Given the description of an element on the screen output the (x, y) to click on. 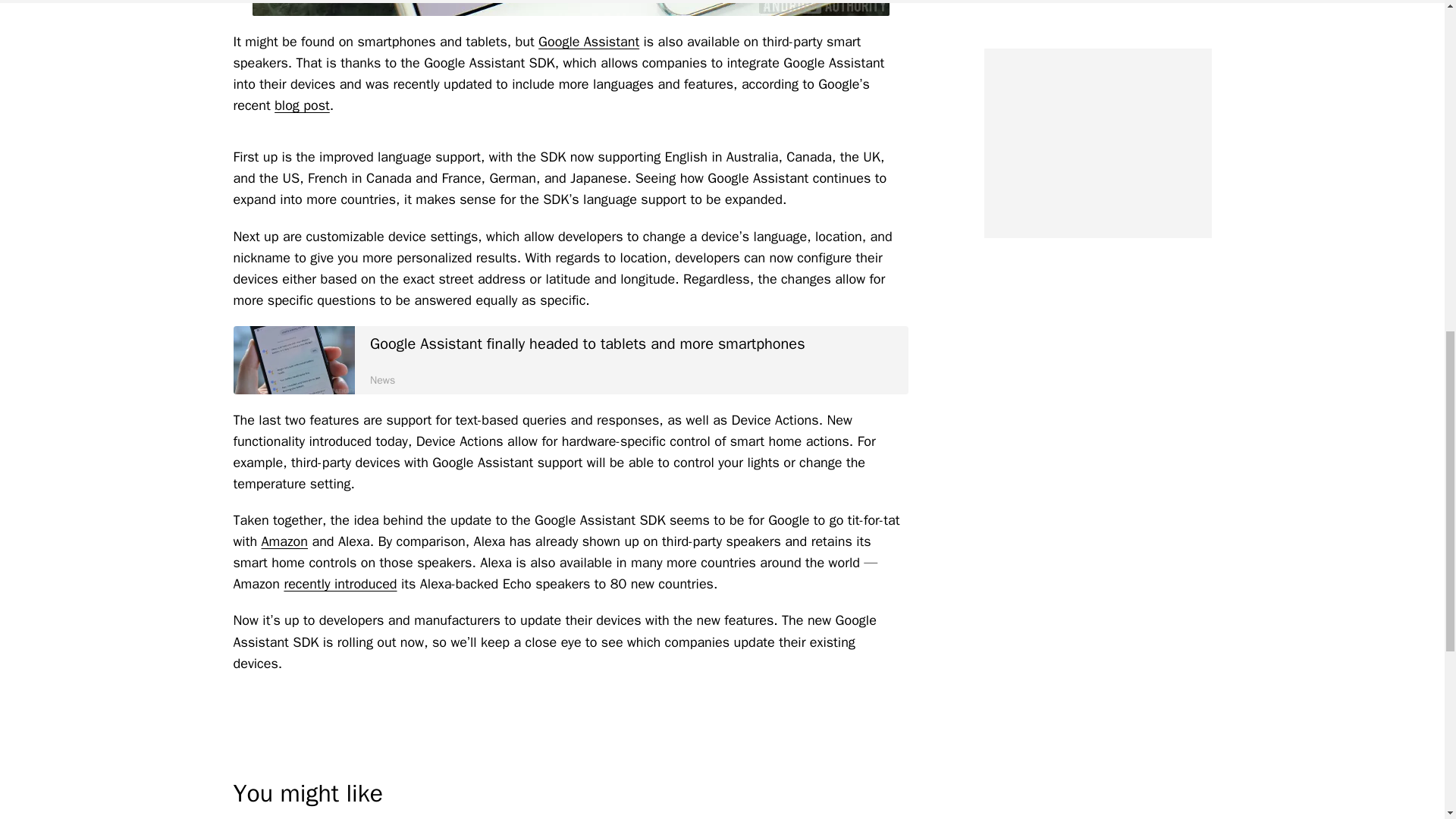
blog post (302, 105)
Google Assistant (588, 41)
recently introduced (339, 583)
android-authority-google-assistant-troubleshooting-pixel-2 (293, 359)
Amazon (285, 541)
Google Assistant Close (569, 7)
